Given the description of an element on the screen output the (x, y) to click on. 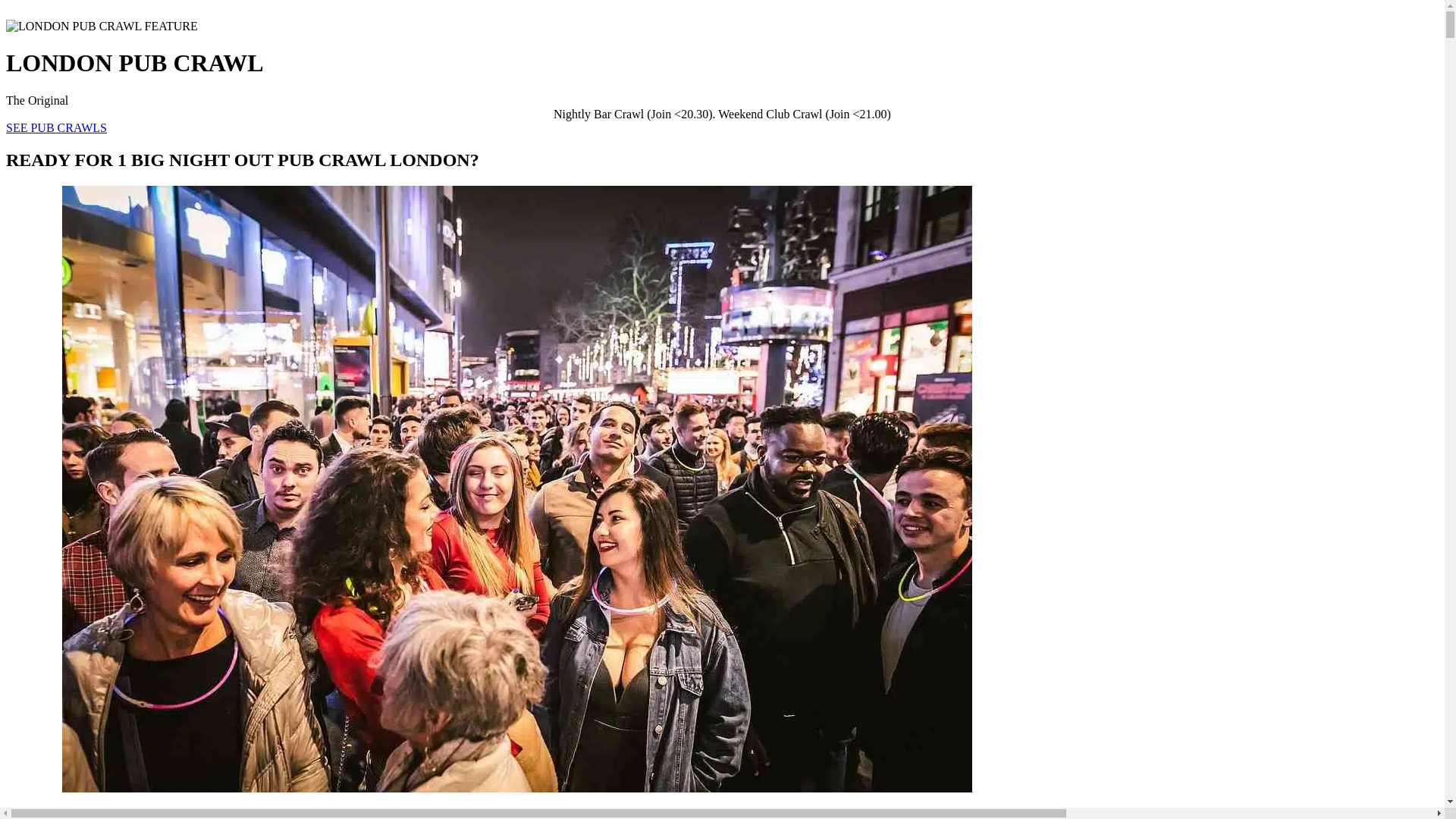
SEE PUB CRAWLS Element type: text (56, 127)
